Given the description of an element on the screen output the (x, y) to click on. 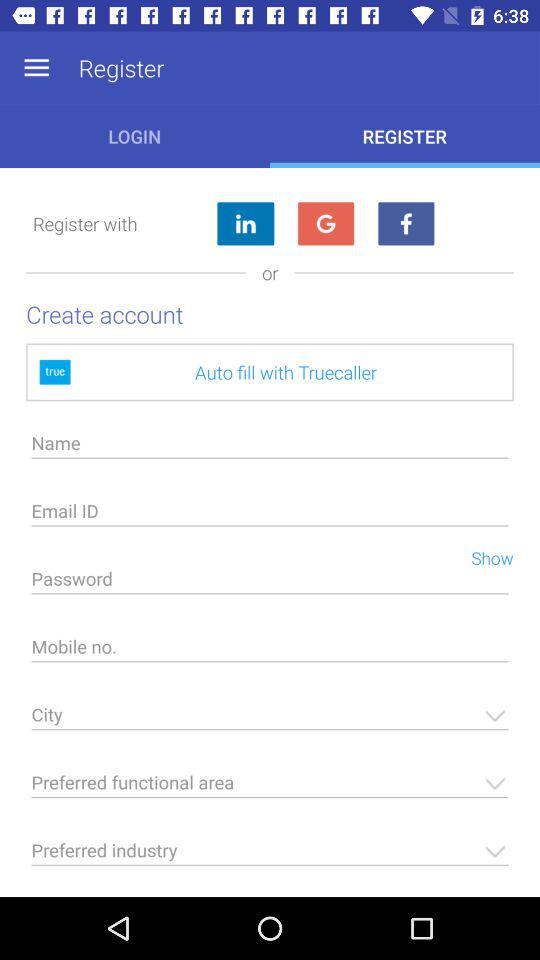
enter name (269, 448)
